Given the description of an element on the screen output the (x, y) to click on. 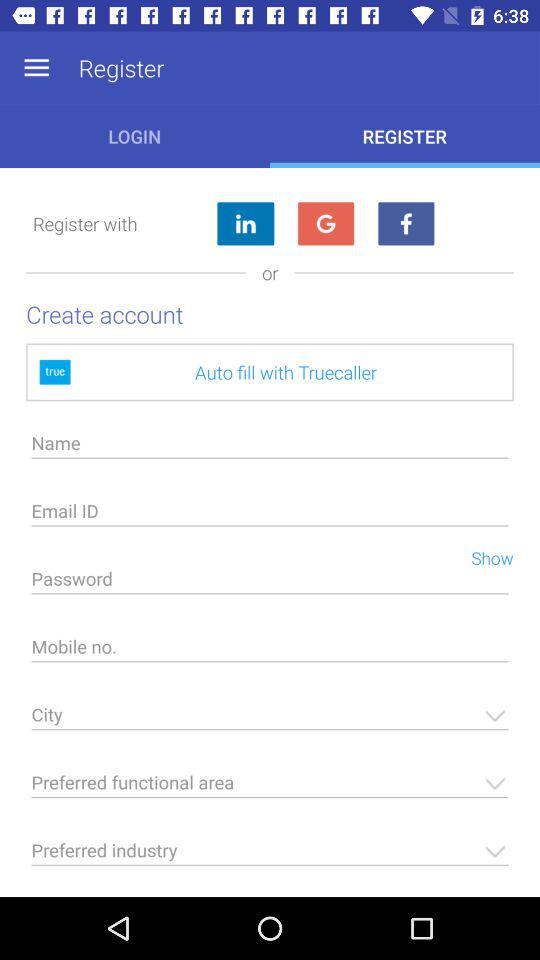
enter name (269, 448)
